Given the description of an element on the screen output the (x, y) to click on. 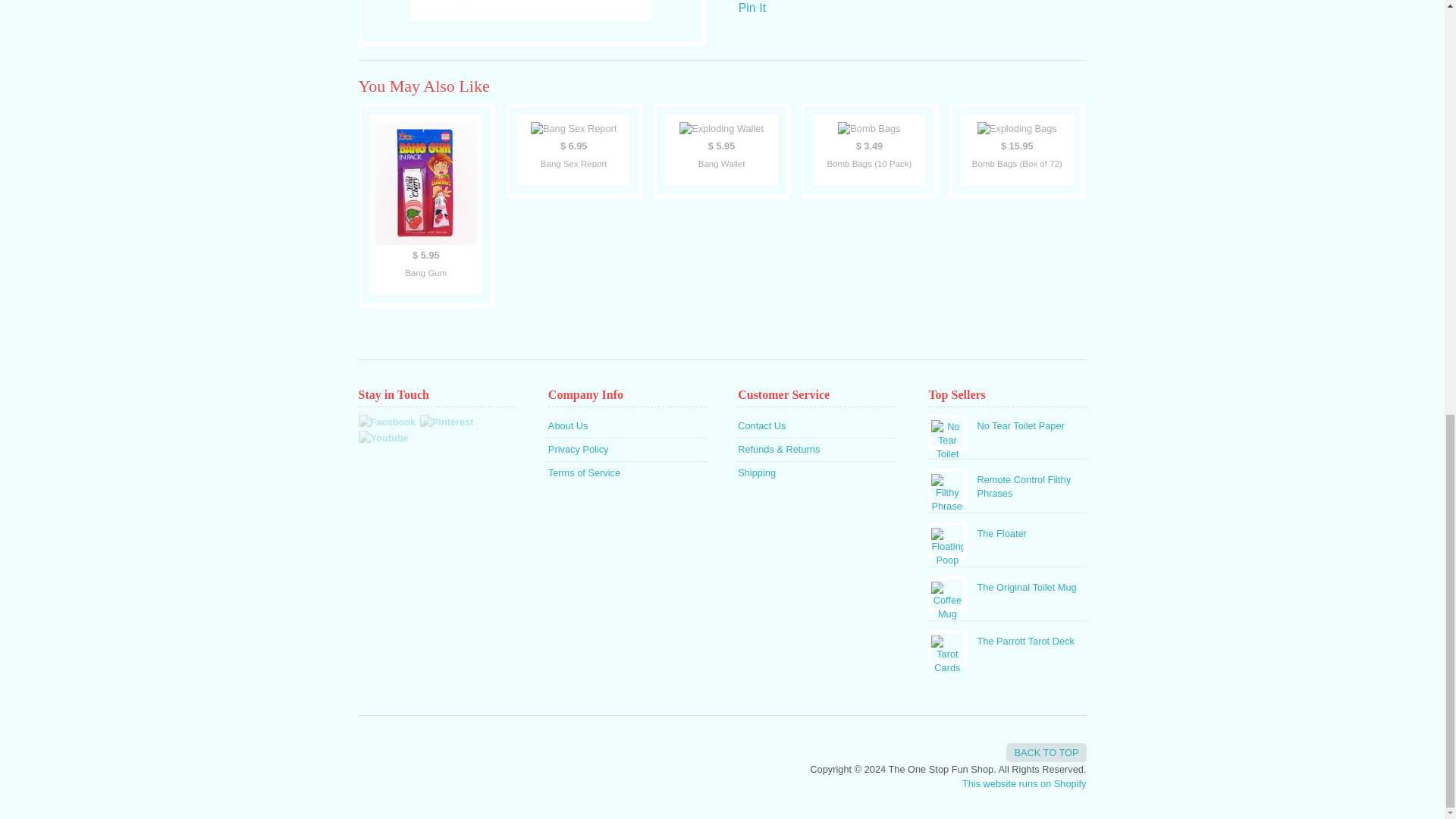
Bang Sex Report (573, 149)
No Tear Toilet Paper (1007, 423)
Pin It (751, 7)
Youtube (382, 437)
The Original Toilet Mug (1007, 585)
The Parrott Tarot Deck (1007, 638)
Bang Wallet (721, 149)
Remote Control Filthy Phrases (1007, 484)
Pinterest (447, 421)
Facebook (386, 421)
